Given the description of an element on the screen output the (x, y) to click on. 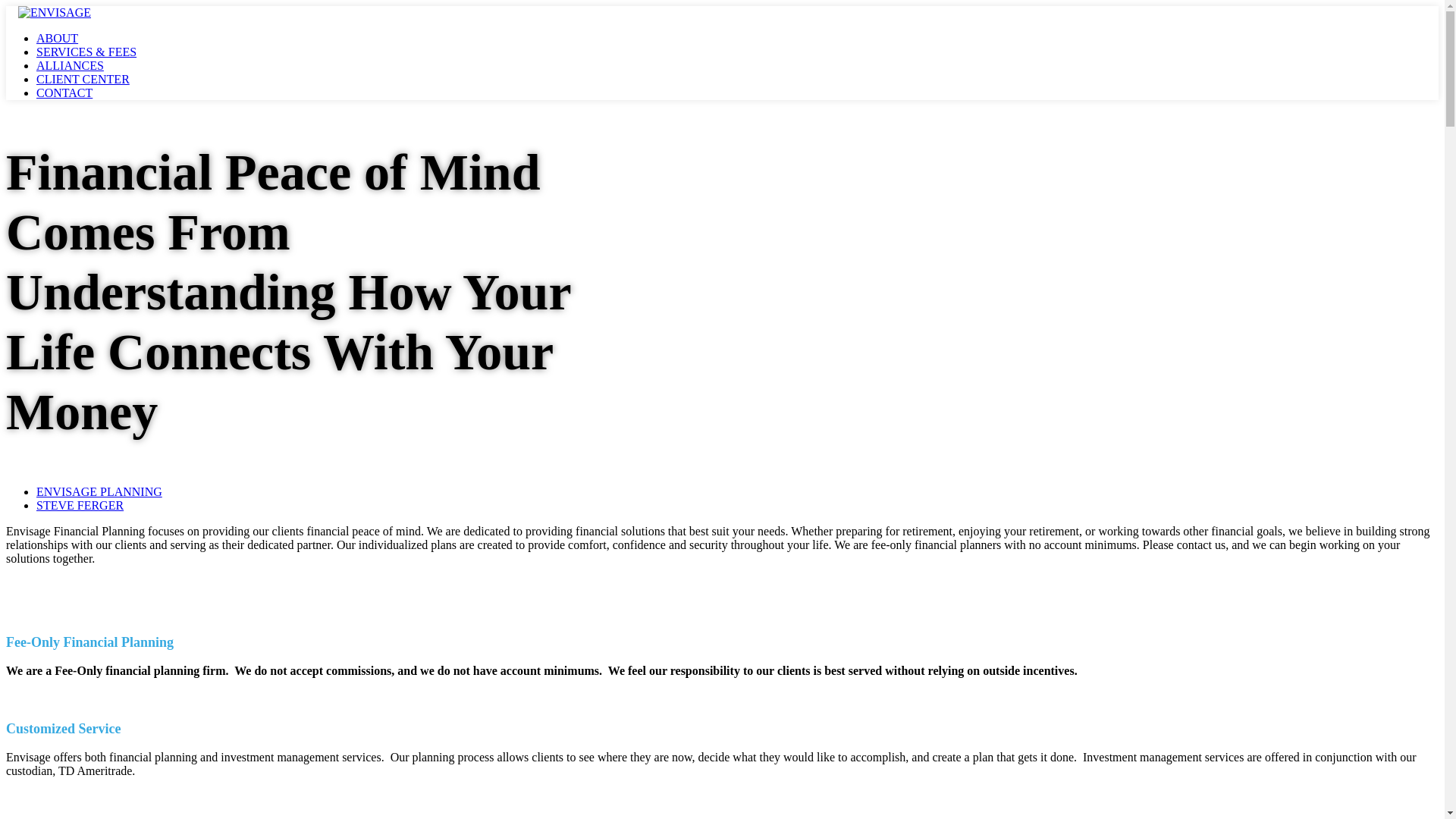
CLIENT CENTER (82, 78)
ENVISAGE PLANNING (98, 491)
CONTACT (64, 92)
ABOUT (57, 38)
ALLIANCES (69, 65)
STEVE FERGER (79, 504)
